Given the description of an element on the screen output the (x, y) to click on. 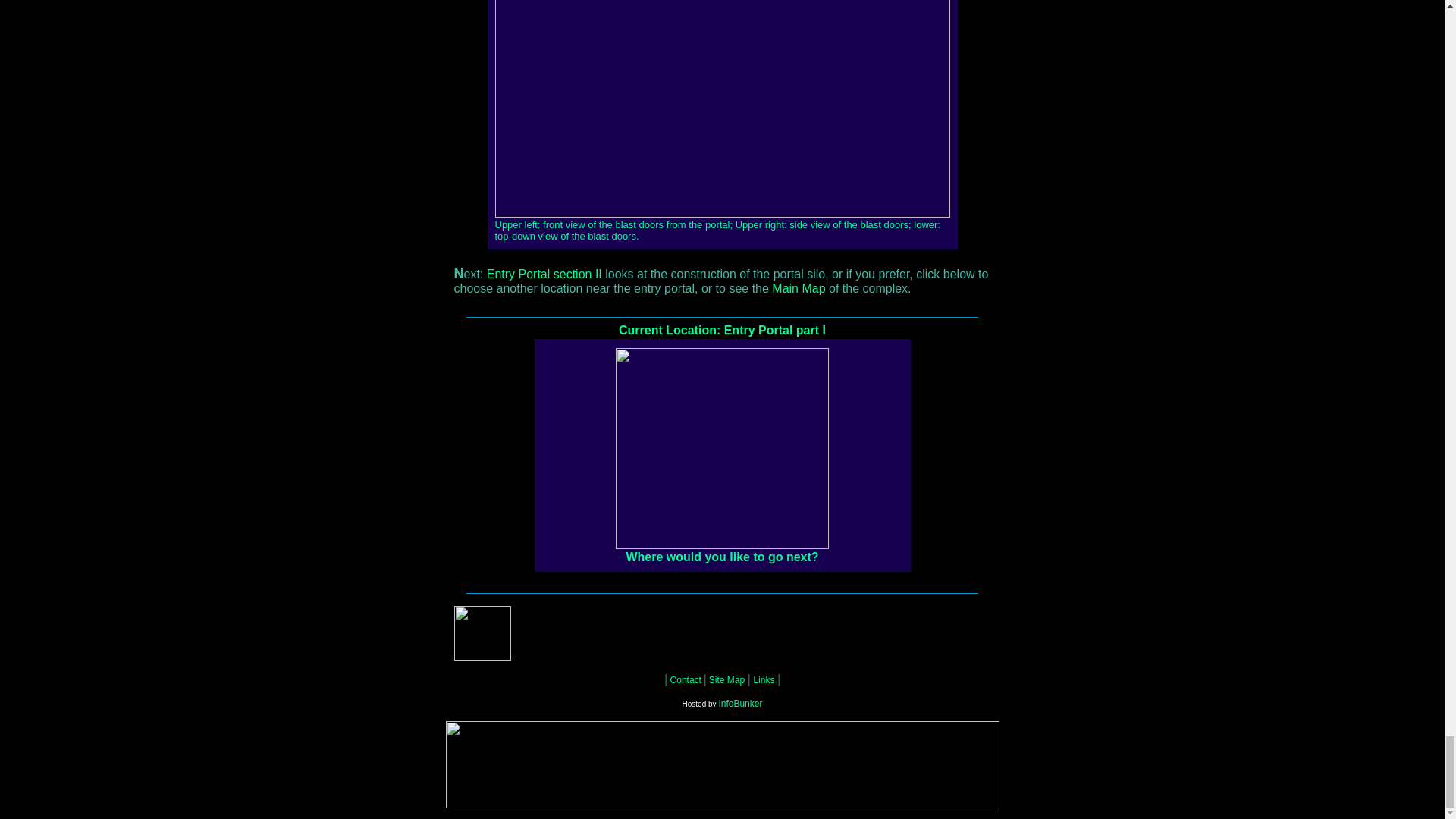
Entry Portal section II (544, 275)
Site Map (725, 679)
InfoBunker (739, 703)
Contact (686, 679)
Main Map (798, 289)
Links (763, 679)
